Given the description of an element on the screen output the (x, y) to click on. 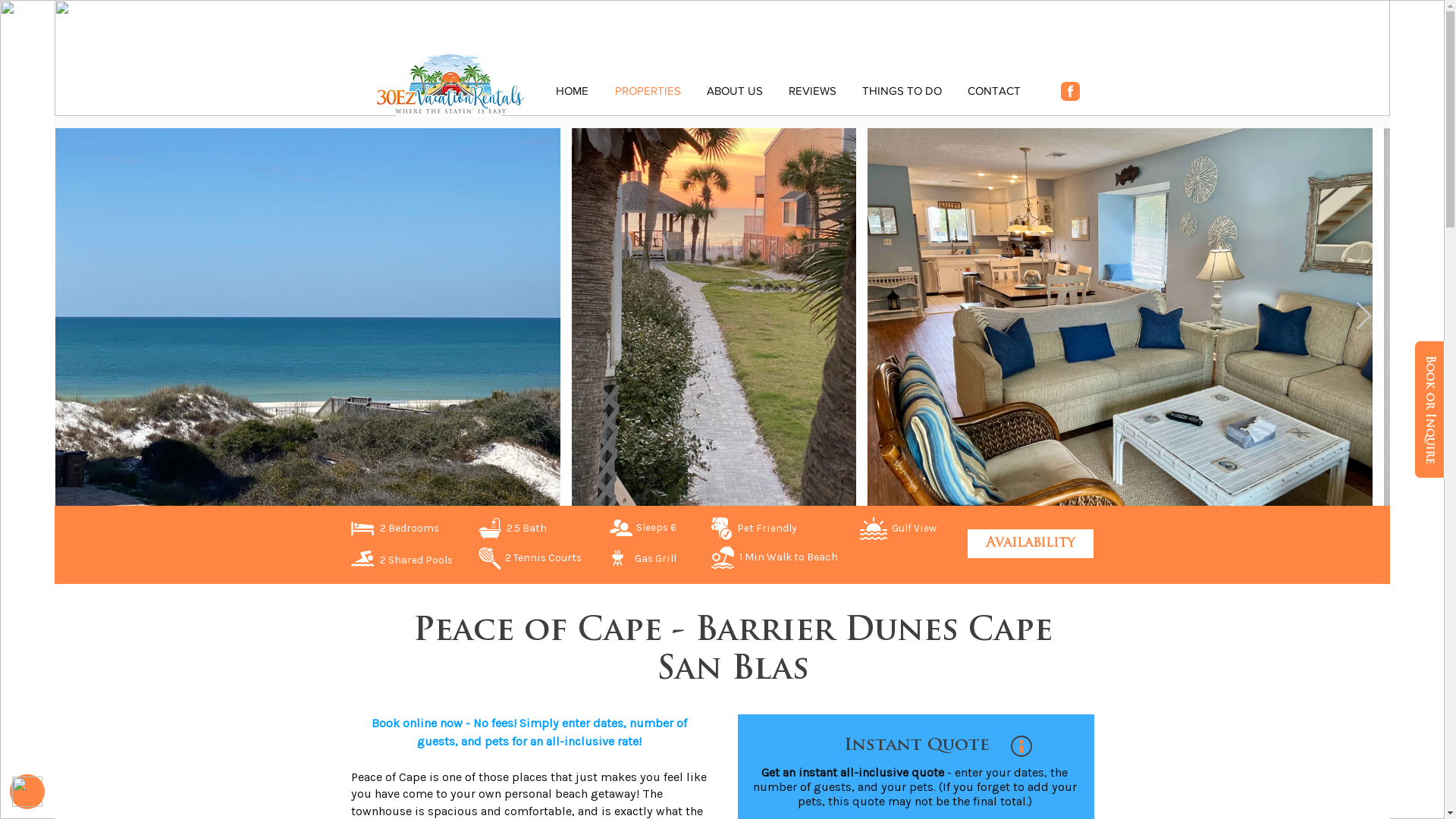
CONTACT Element type: text (992, 90)
REVIEWS Element type: text (811, 90)
PROPERTIES Element type: text (647, 90)
HOME Element type: text (572, 90)
ABOUT US Element type: text (734, 90)
Availability Element type: text (1029, 543)
